Given the description of an element on the screen output the (x, y) to click on. 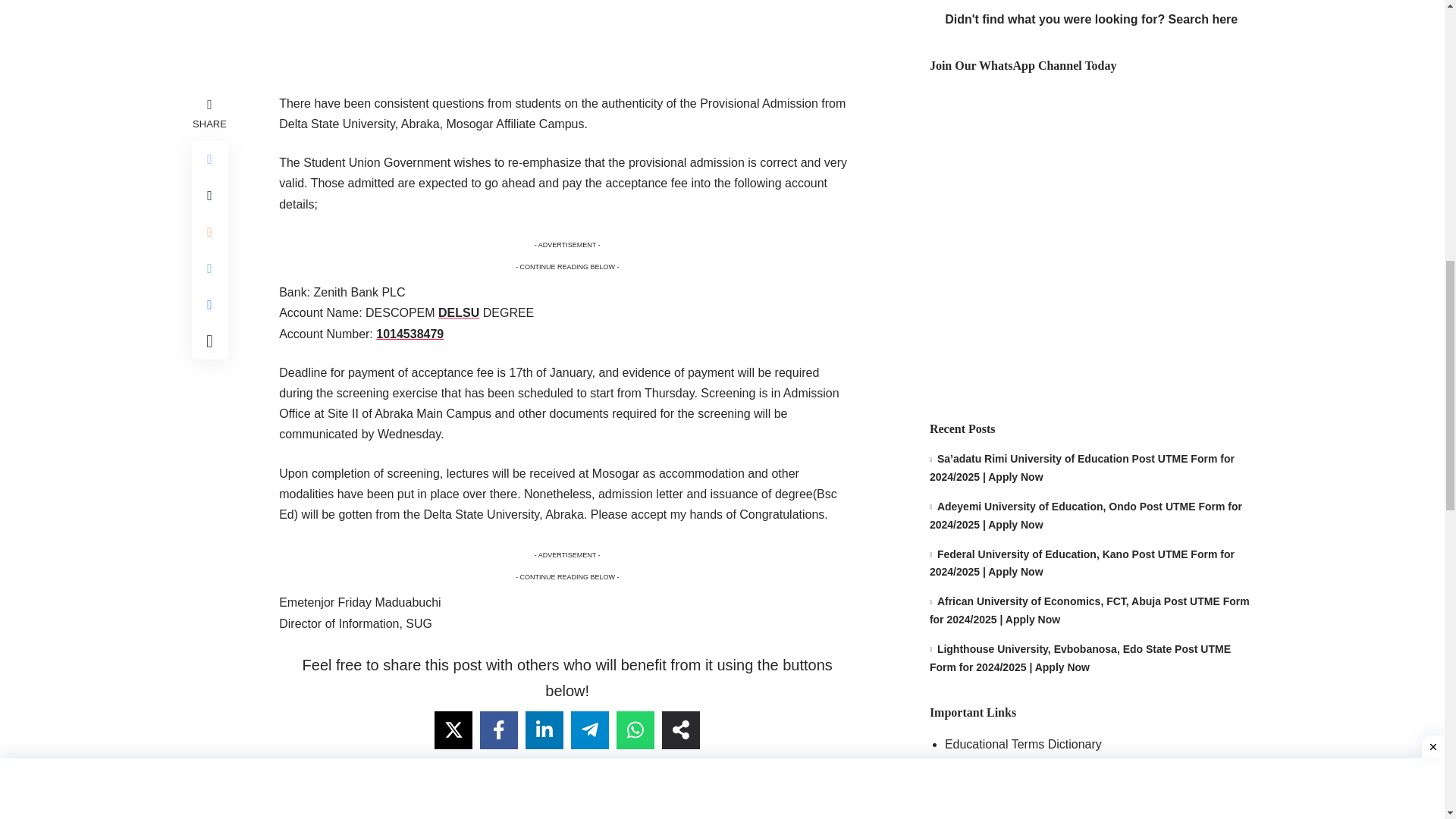
Urgent Information about Delsu Mosogar Affiliate Programme. (470, 808)
